Given the description of an element on the screen output the (x, y) to click on. 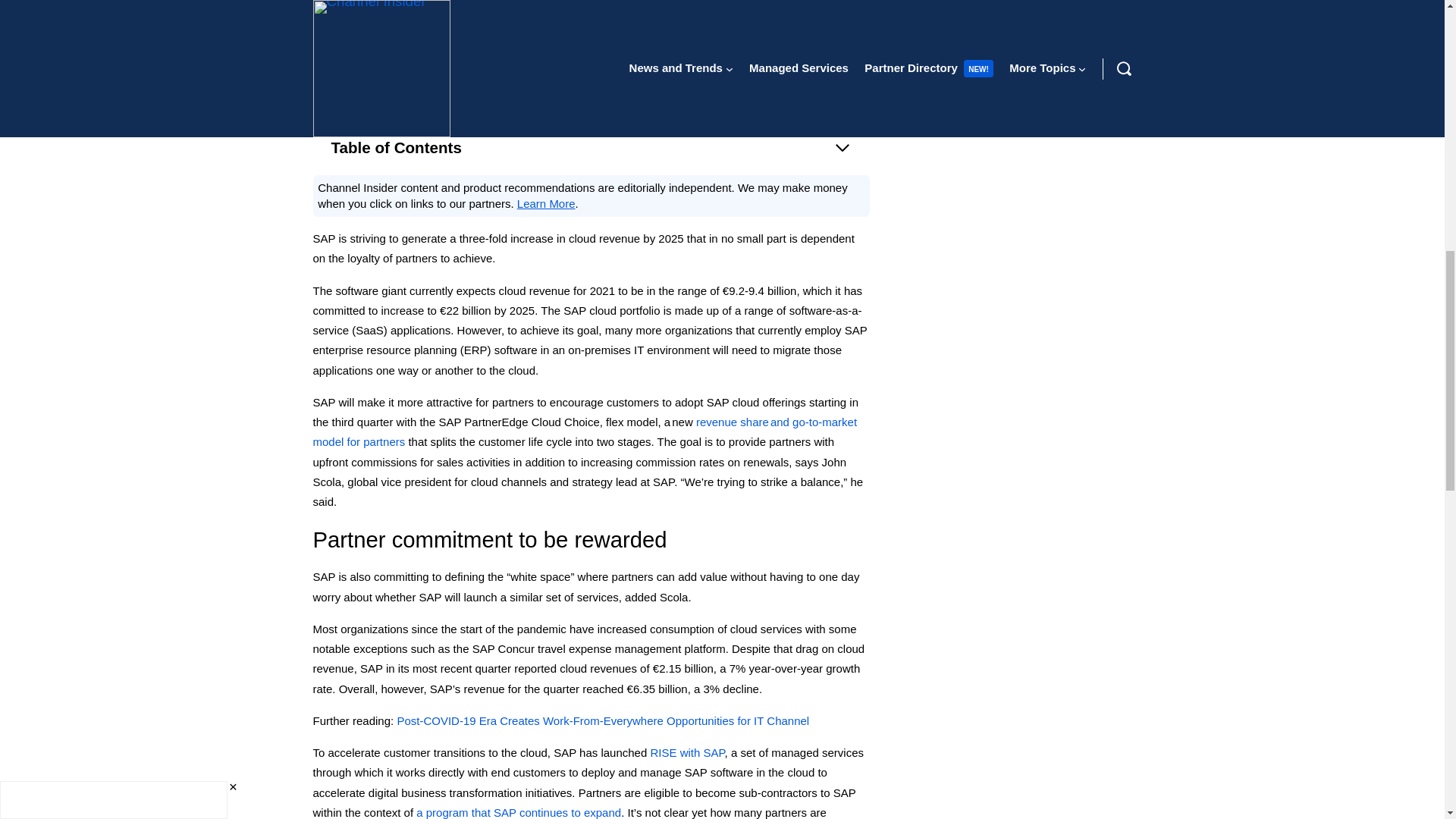
Learn More (545, 203)
a program that SAP continues to expand (518, 812)
Table of Contents (590, 147)
RISE with SAP (686, 752)
Table of Contents (591, 147)
on (925, 23)
